Given the description of an element on the screen output the (x, y) to click on. 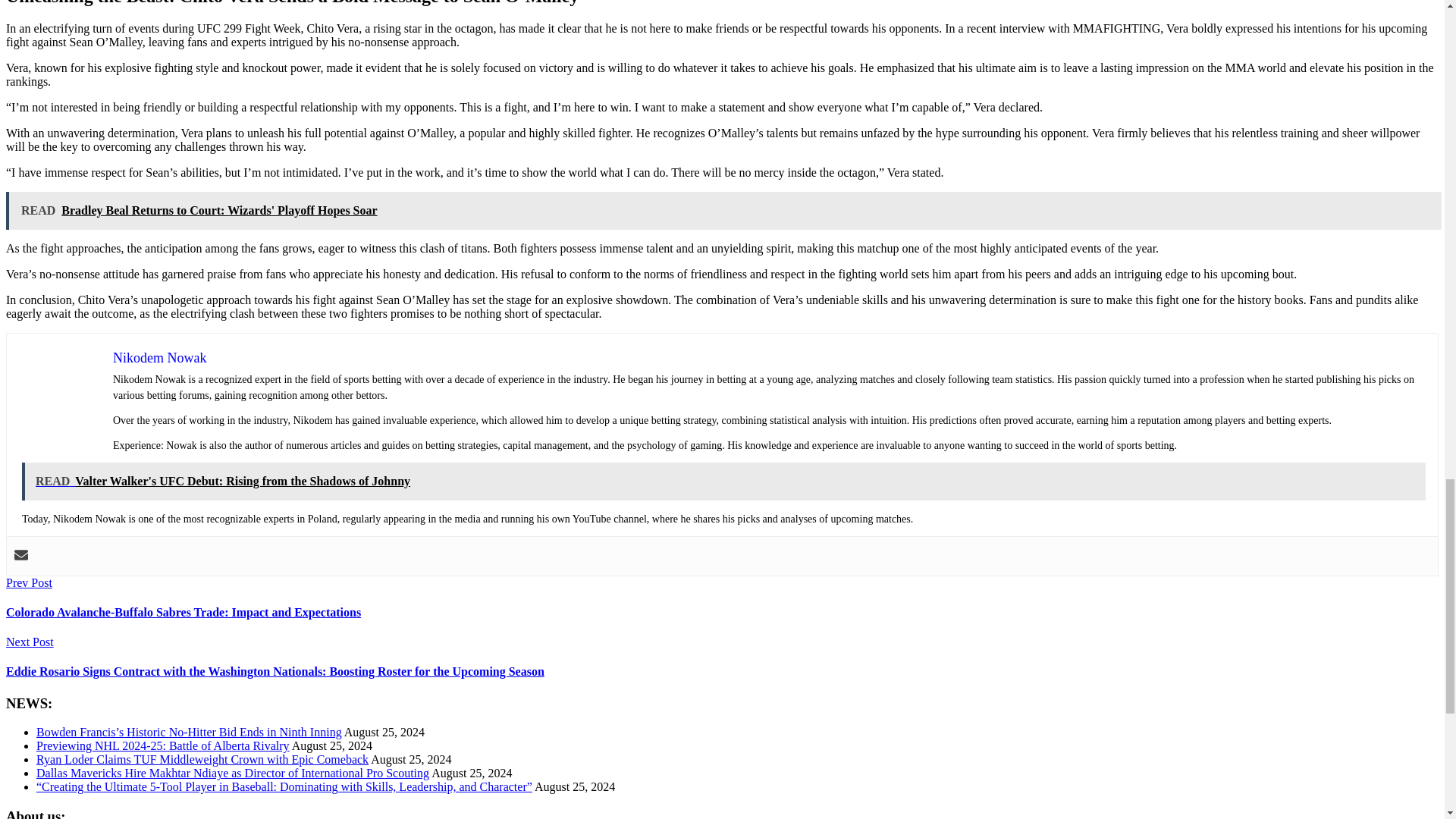
Previewing NHL 2024-25: Battle of Alberta Rivalry (162, 745)
Nikodem Nowak (159, 357)
Ryan Loder Claims TUF Middleweight Crown with Epic Comeback (202, 758)
